Given the description of an element on the screen output the (x, y) to click on. 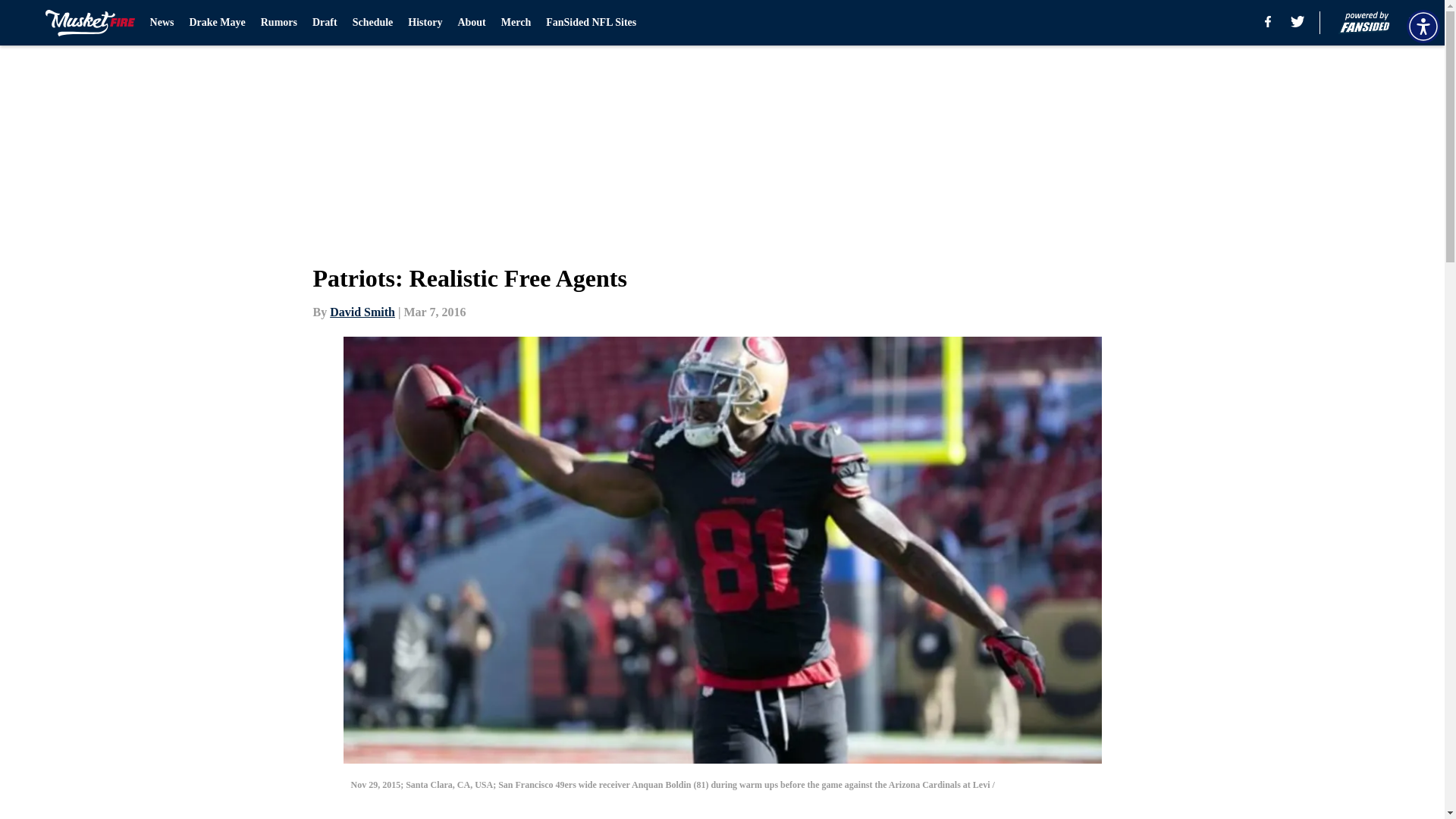
FanSided NFL Sites (591, 22)
News (161, 22)
David Smith (362, 311)
Accessibility Menu (1422, 26)
History (424, 22)
Drake Maye (216, 22)
About (470, 22)
Rumors (278, 22)
Draft (325, 22)
Merch (515, 22)
Schedule (372, 22)
